Given the description of an element on the screen output the (x, y) to click on. 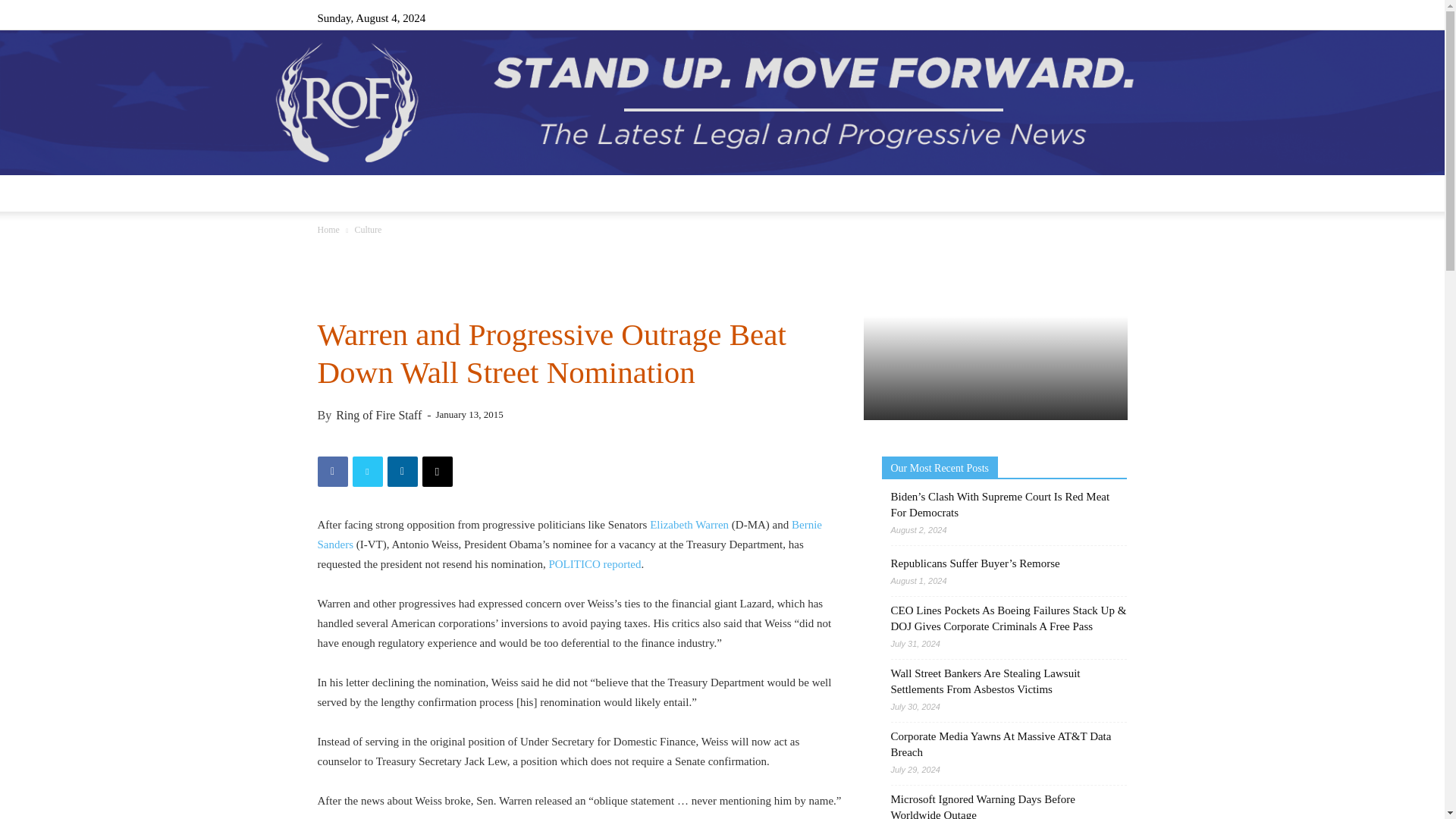
Twitter (1090, 17)
Facebook (1015, 17)
Youtube (1114, 17)
Instagram (1040, 17)
RSS (1065, 17)
